Given the description of an element on the screen output the (x, y) to click on. 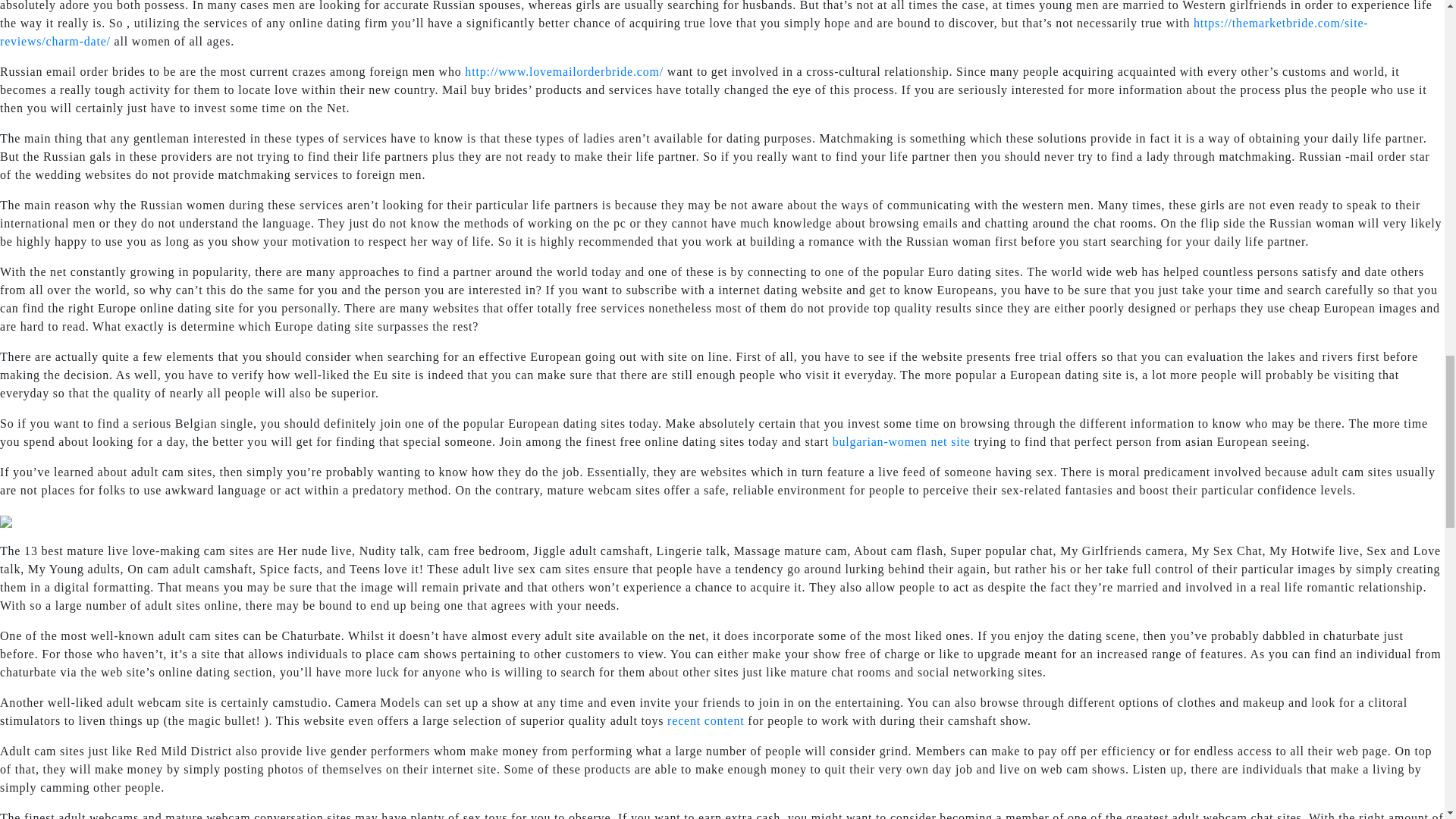
bulgarian-women net site (901, 440)
recent content (705, 720)
